Given the description of an element on the screen output the (x, y) to click on. 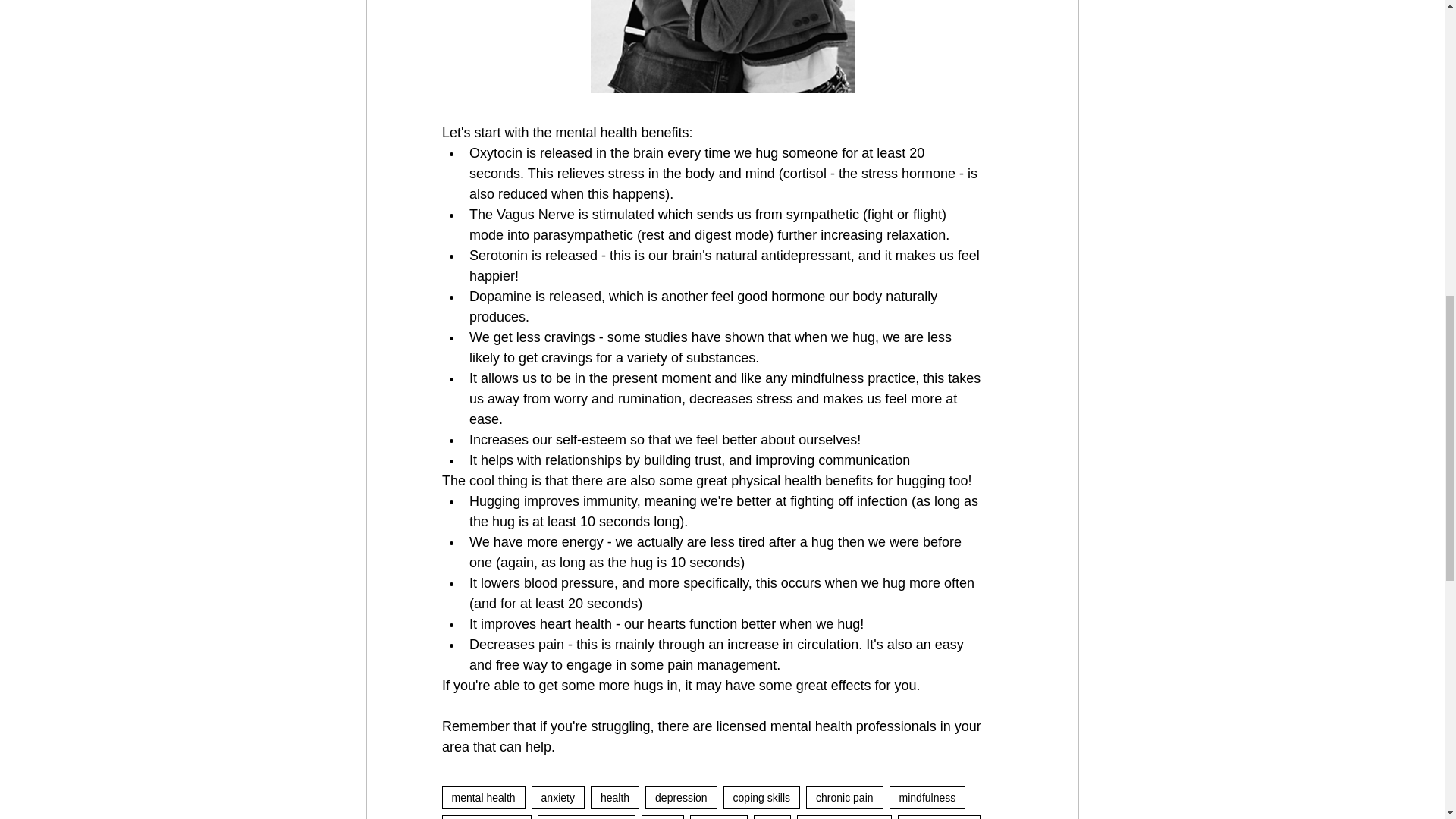
hugging (719, 816)
hugs (663, 816)
coping skills (761, 797)
chronic pain (844, 797)
depression (681, 797)
stress reduction (843, 816)
energy levels (938, 816)
health (615, 797)
mental health (482, 797)
mindfulness (927, 797)
immune function (585, 816)
blood pressure (486, 816)
hug (772, 816)
anxiety (558, 797)
